Given the description of an element on the screen output the (x, y) to click on. 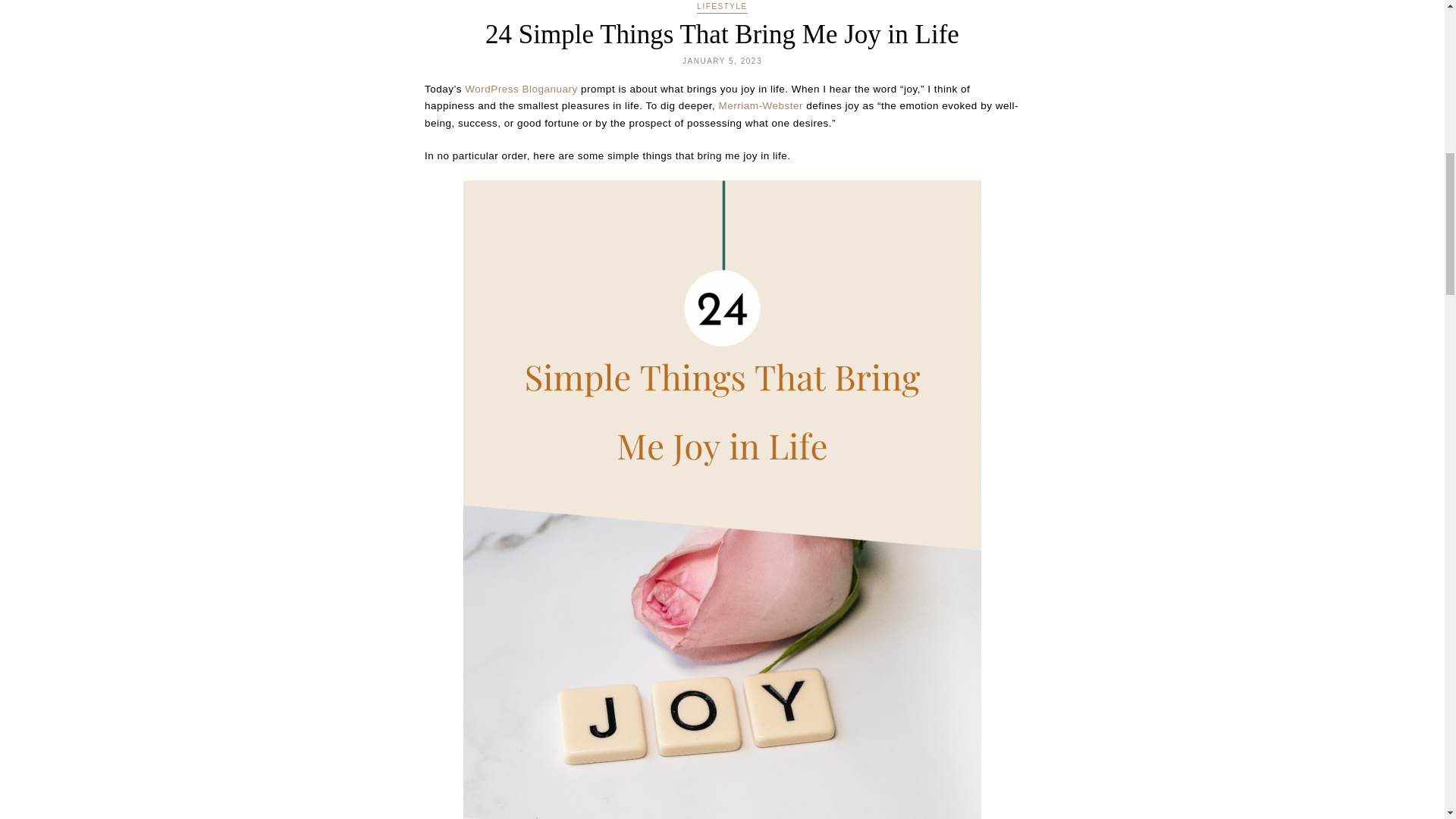
Merriam-Webster (760, 105)
LIFESTYLE (721, 8)
JANUARY 5, 2023 (721, 60)
WordPress Bloganuary (521, 89)
